Given the description of an element on the screen output the (x, y) to click on. 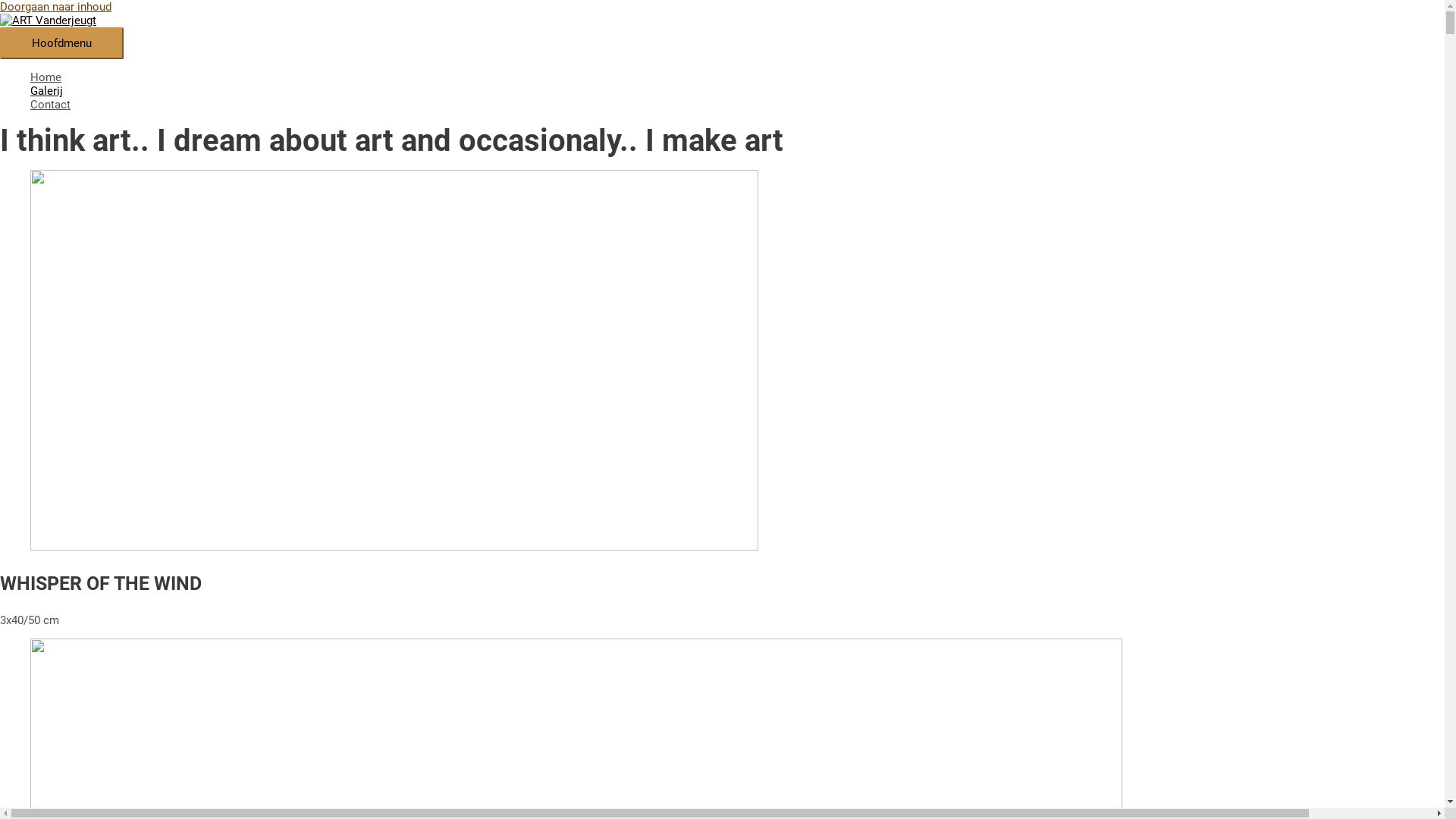
Hoofdmenu Element type: text (61, 43)
Doorgaan naar inhoud Element type: text (55, 6)
Home Element type: text (485, 77)
Contact Element type: text (485, 104)
Galerij Element type: text (485, 90)
